Given the description of an element on the screen output the (x, y) to click on. 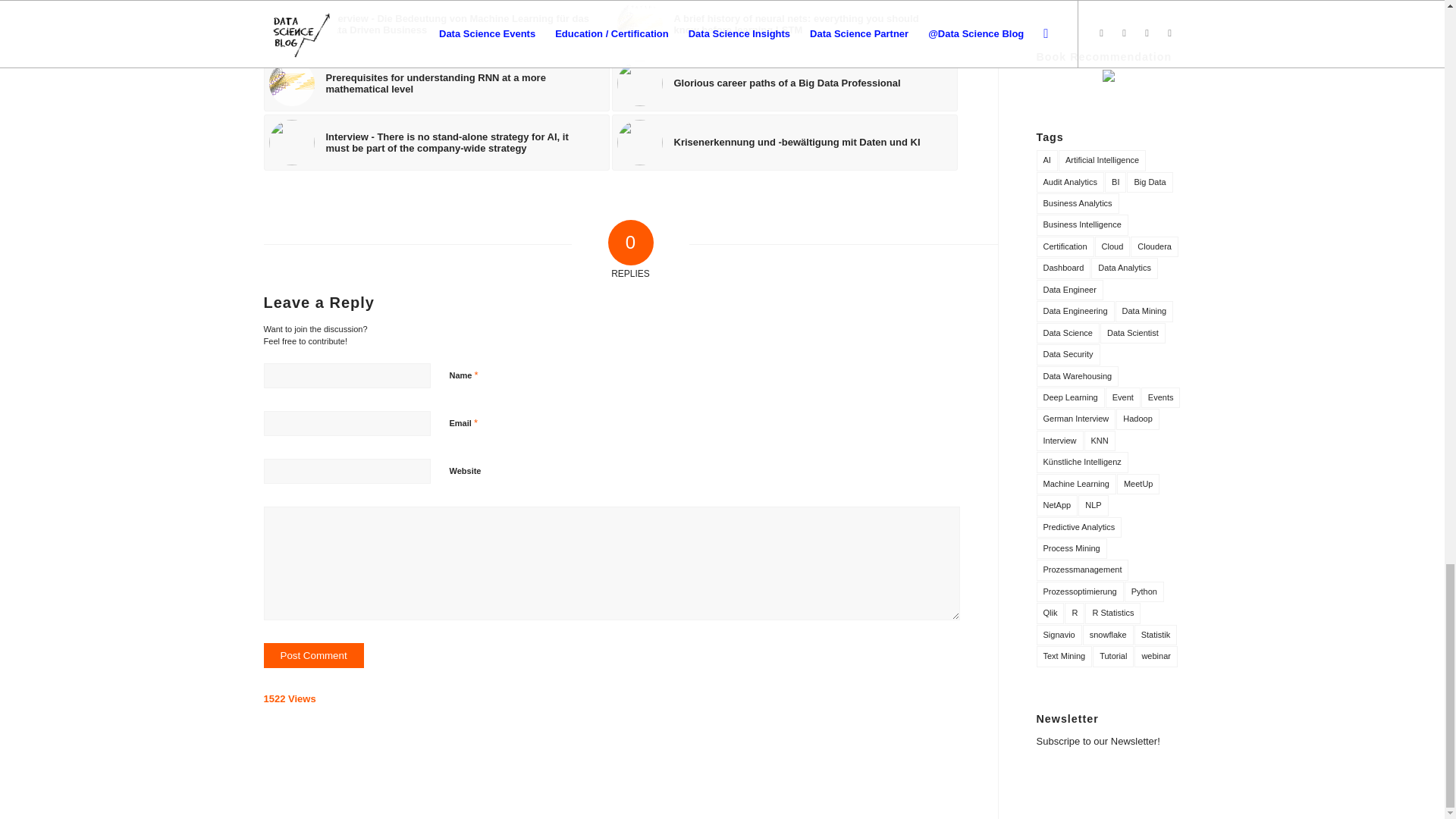
Post Comment (313, 655)
